Given the description of an element on the screen output the (x, y) to click on. 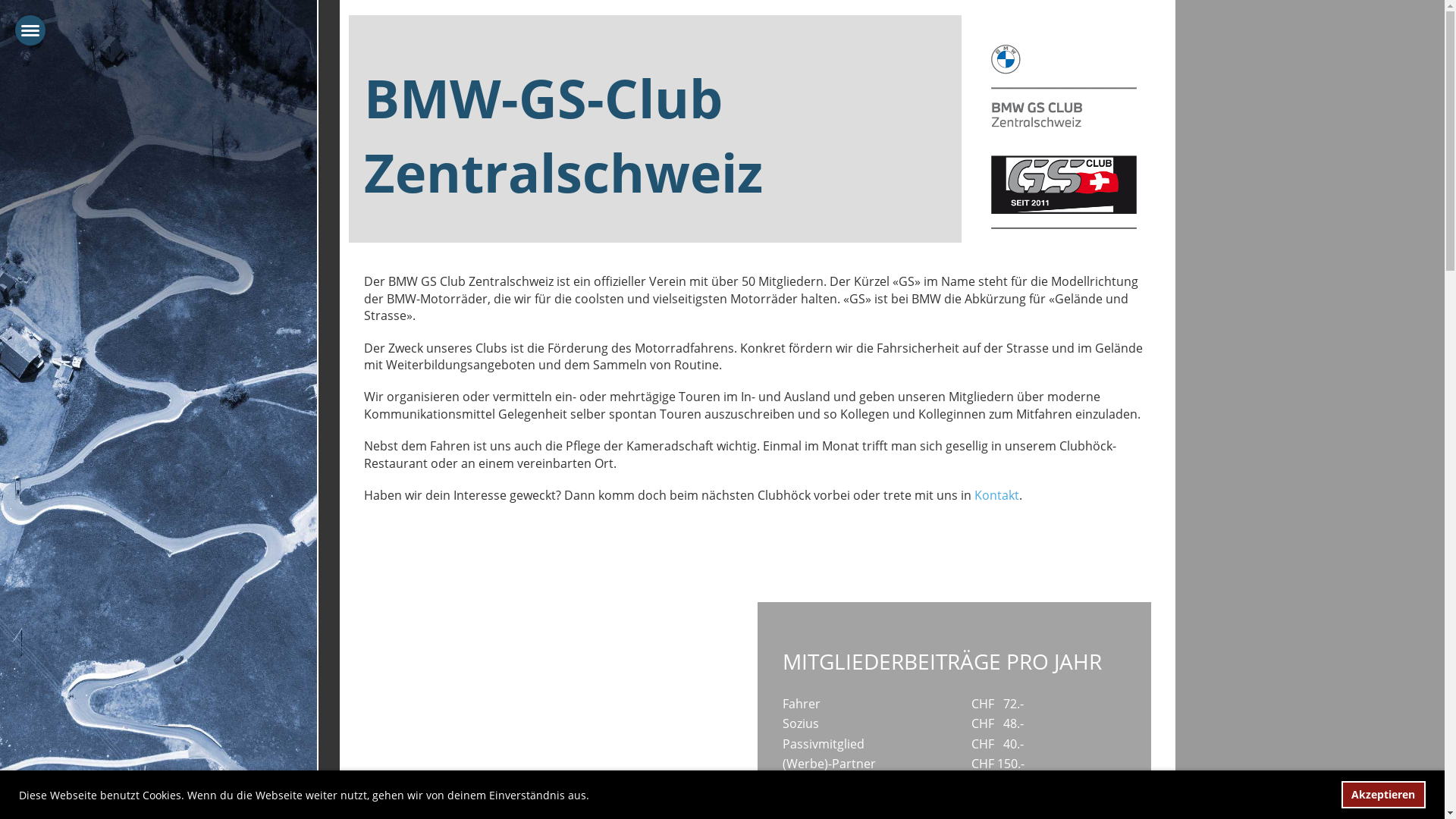
Akzeptieren Element type: text (1383, 794)
Kontakt Element type: text (996, 494)
